Given the description of an element on the screen output the (x, y) to click on. 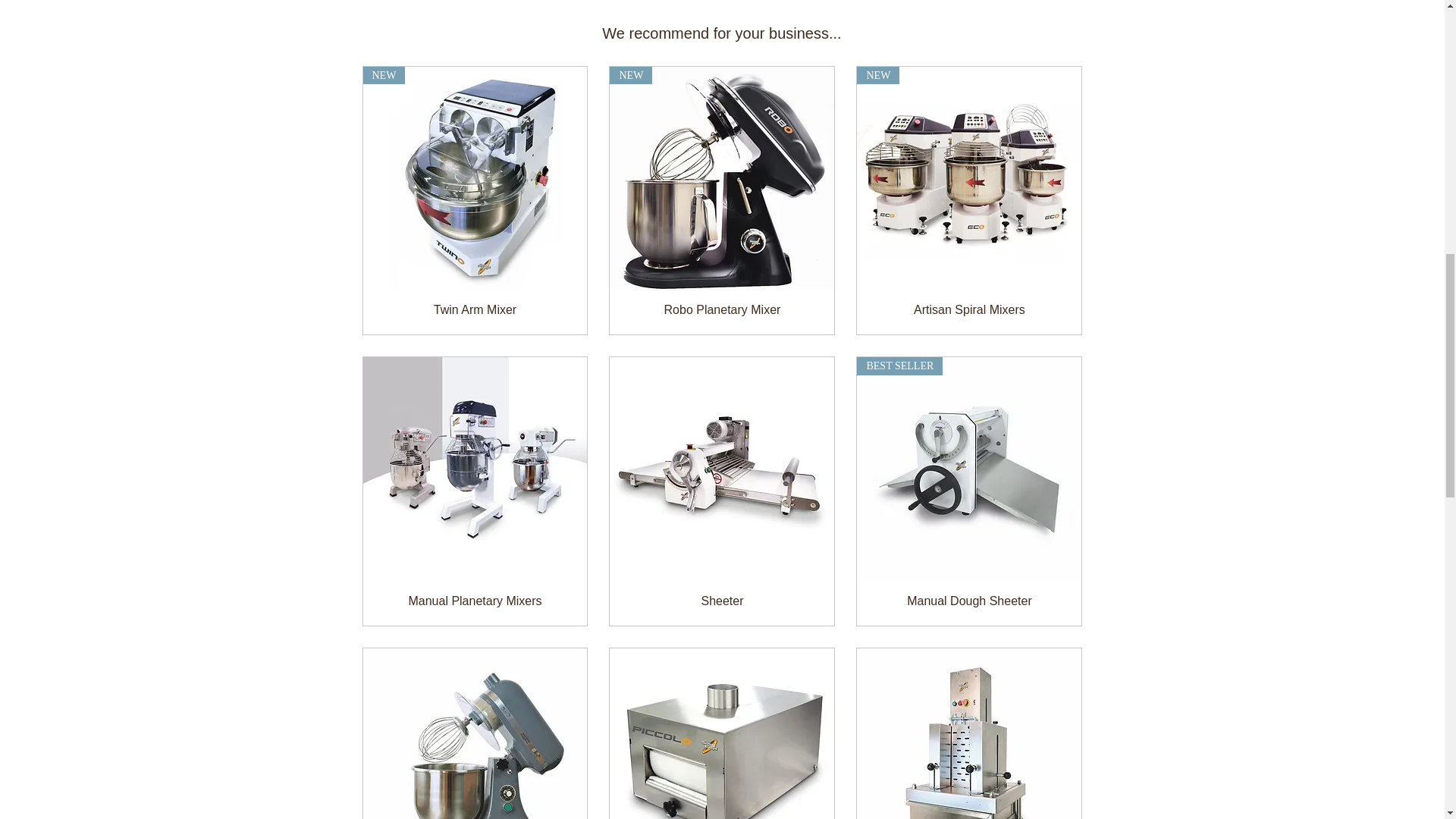
Sheeter (721, 601)
BEST SELLER (969, 469)
Artisan Spiral Mixers (968, 309)
Manual Planetary Mixers (474, 601)
Manual Dough Sheeter (968, 601)
Robo Planetary Mixer (721, 309)
Twin Arm Mixer (474, 309)
NEW (474, 178)
NEW (722, 178)
NEW (969, 178)
